Given the description of an element on the screen output the (x, y) to click on. 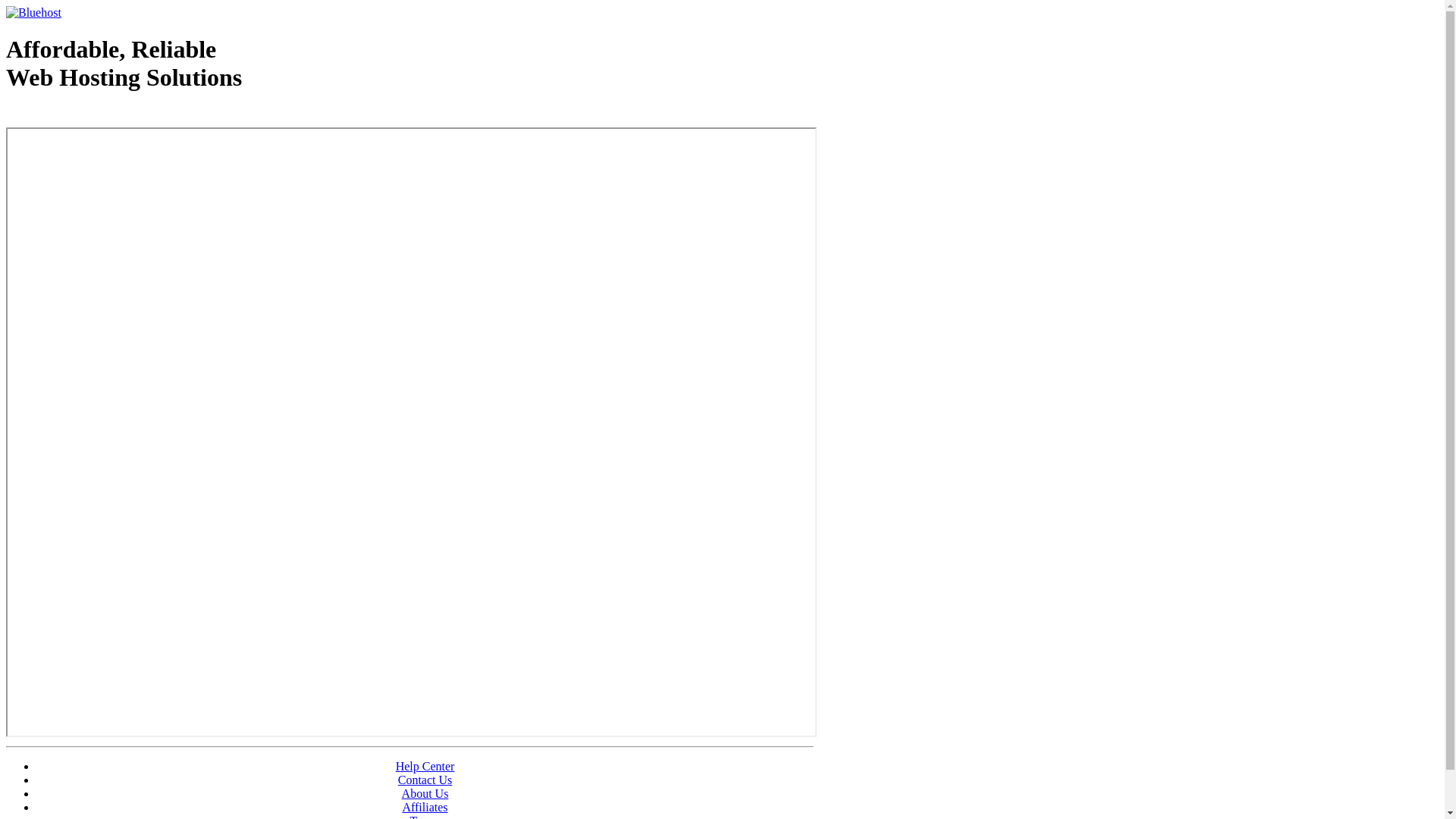
Web Hosting - courtesy of www.bluehost.com Element type: text (94, 115)
About Us Element type: text (424, 793)
Help Center Element type: text (425, 765)
Affiliates Element type: text (424, 806)
Contact Us Element type: text (425, 779)
